Given the description of an element on the screen output the (x, y) to click on. 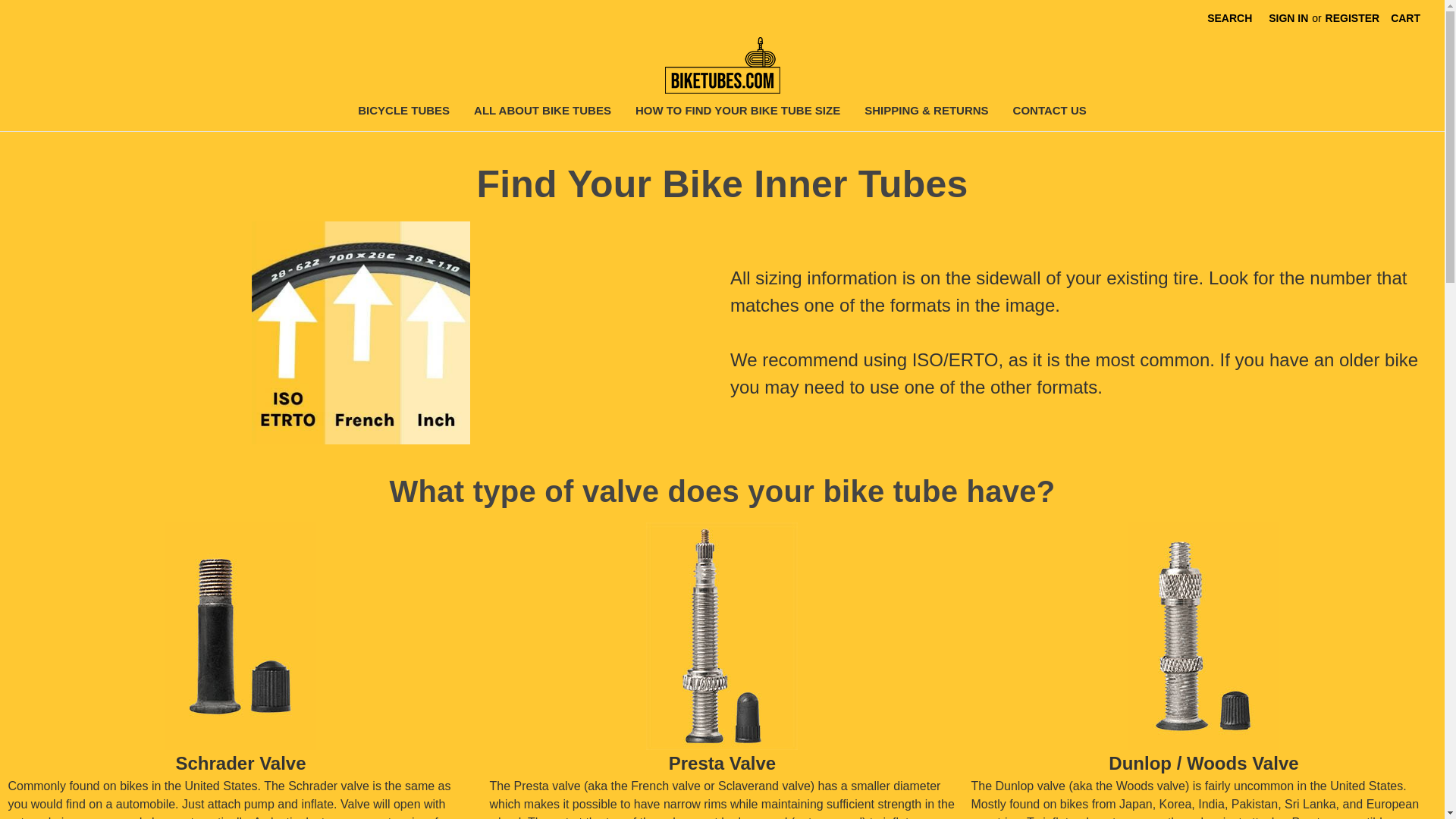
BICYCLE TUBES (403, 112)
REGISTER (1353, 18)
ALL ABOUT BIKE TUBES (542, 112)
CART (1404, 18)
SIGN IN (1288, 18)
CONTACT US (1050, 112)
SEARCH (1229, 18)
HOW TO FIND YOUR BIKE TUBE SIZE (737, 112)
Biketubes.com (720, 65)
